Given the description of an element on the screen output the (x, y) to click on. 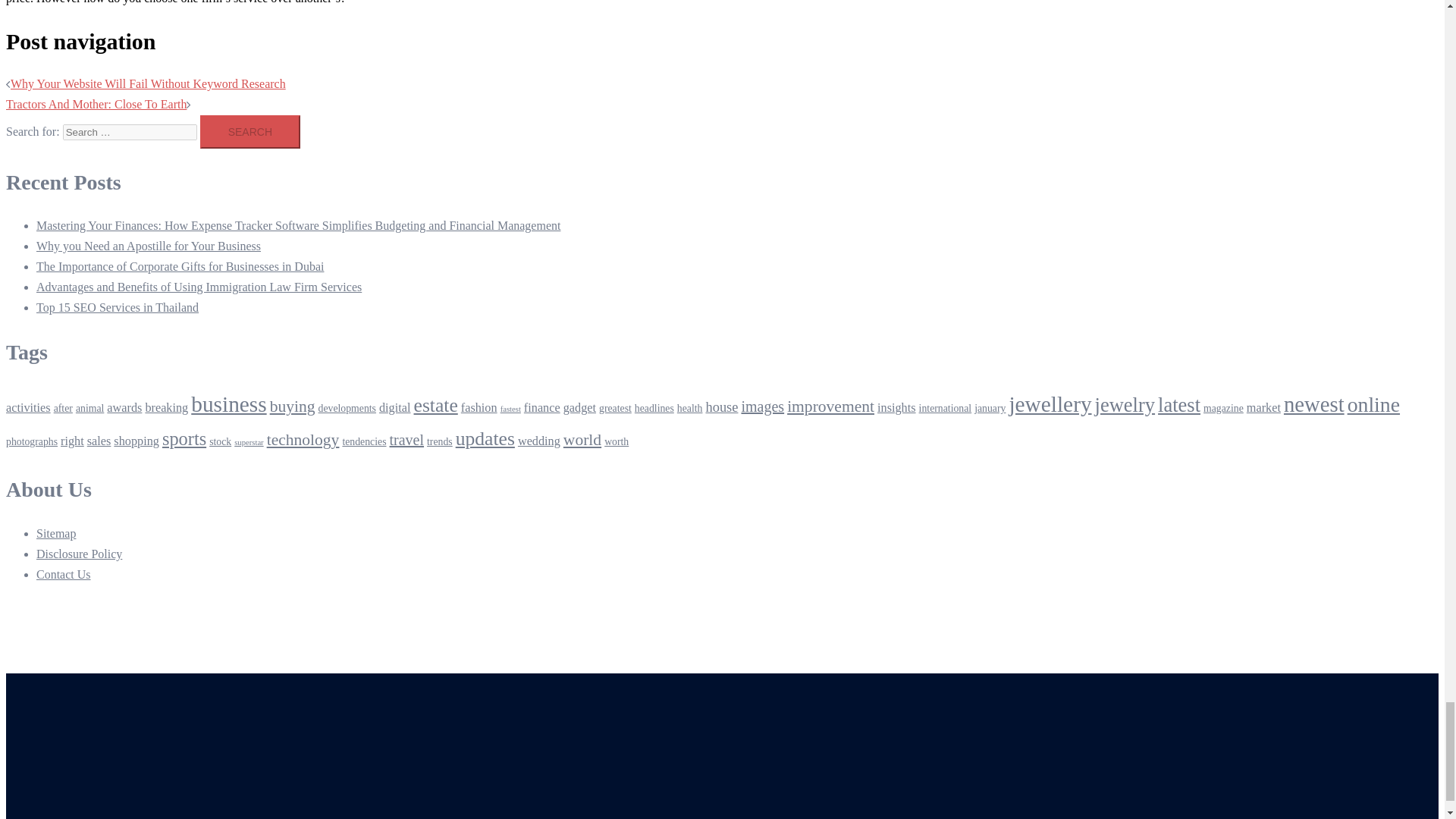
Search (249, 131)
animal (89, 408)
developments (346, 408)
Why Your Website Will Fail Without Keyword Research (147, 83)
The Importance of Corporate Gifts for Businesses in Dubai (179, 266)
Search (249, 131)
awards (123, 407)
after (62, 408)
Why you Need an Apostille for Your Business (148, 245)
business (228, 404)
activities (27, 407)
digital (394, 407)
buying (292, 406)
